Given the description of an element on the screen output the (x, y) to click on. 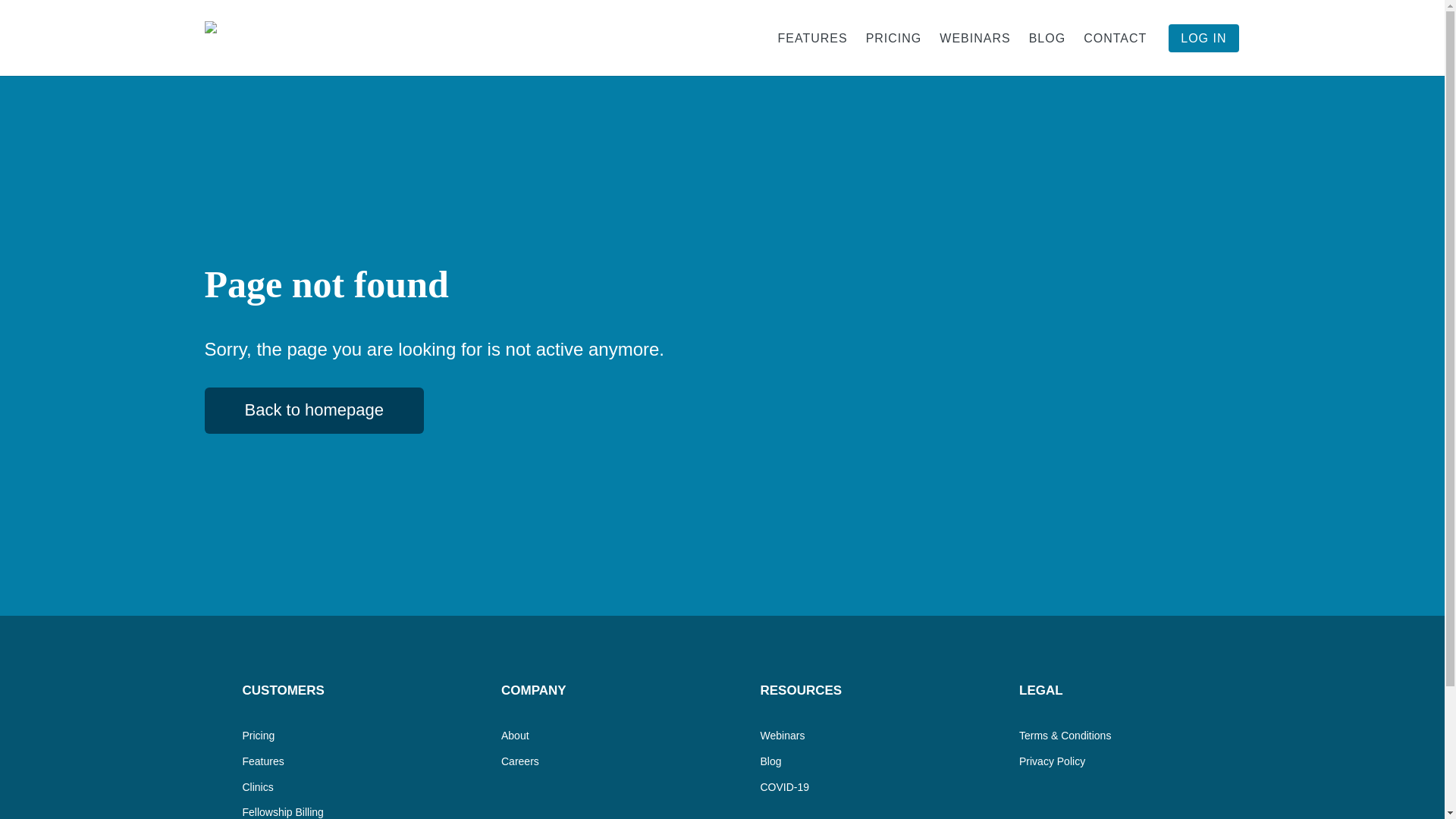
Clinics (258, 787)
CONTACT (1115, 37)
Careers (519, 761)
Privacy Policy (1051, 761)
Back to homepage (314, 410)
Features (263, 761)
Fellowship Billing (283, 811)
Webinars (782, 735)
About (514, 735)
PRICING (894, 37)
LOG IN (1203, 38)
Blog (770, 761)
WEBINARS (974, 37)
BLOG (1047, 37)
COVID-19 (784, 787)
